Given the description of an element on the screen output the (x, y) to click on. 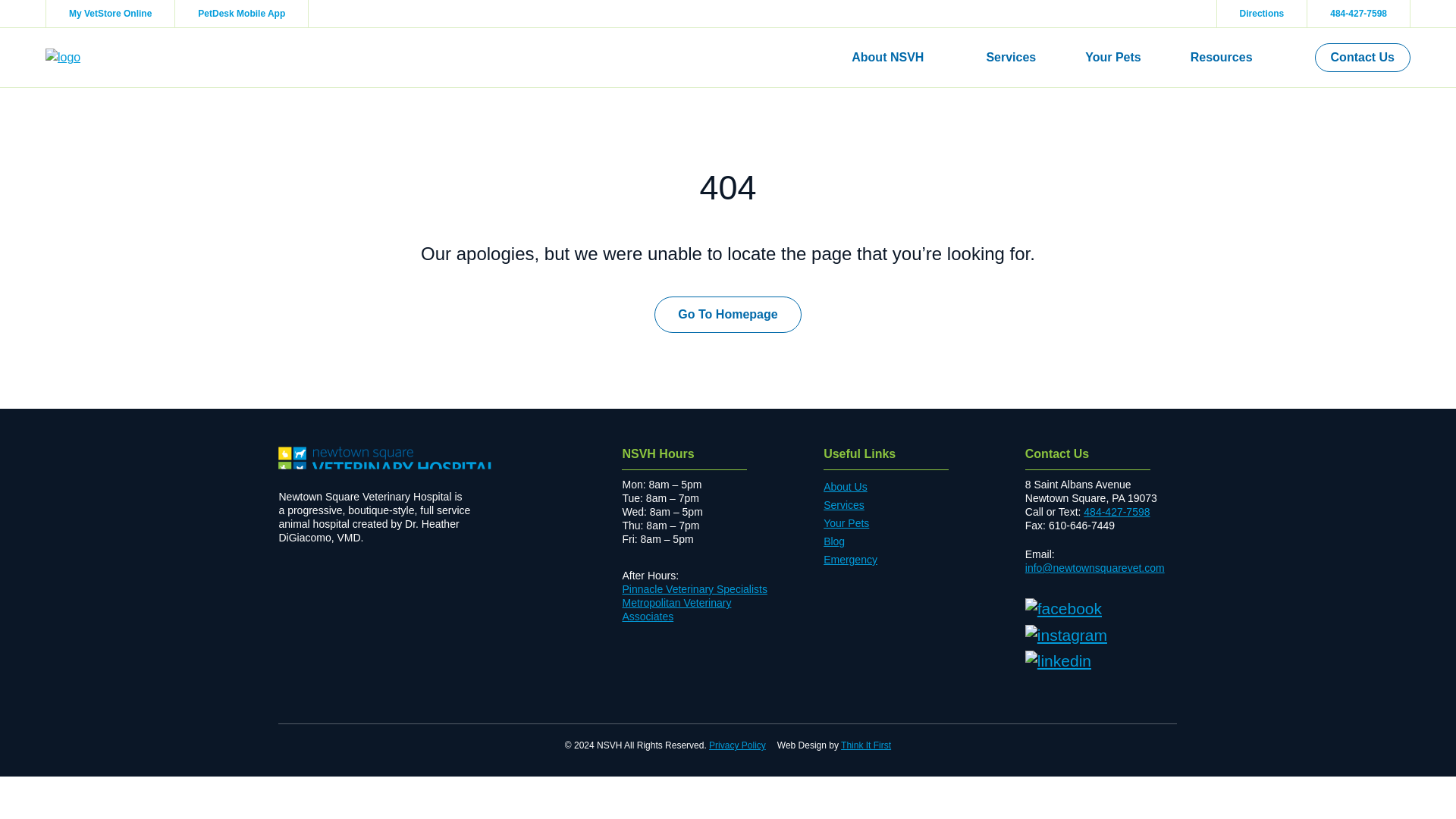
Resources (1228, 57)
About NSVH (893, 57)
My VetStore Online (109, 13)
PetDesk Mobile App (241, 13)
Contact Us (1362, 57)
Services (1010, 57)
484-427-7598 (1358, 13)
Your Pets (1112, 57)
Directions (1261, 13)
